Given the description of an element on the screen output the (x, y) to click on. 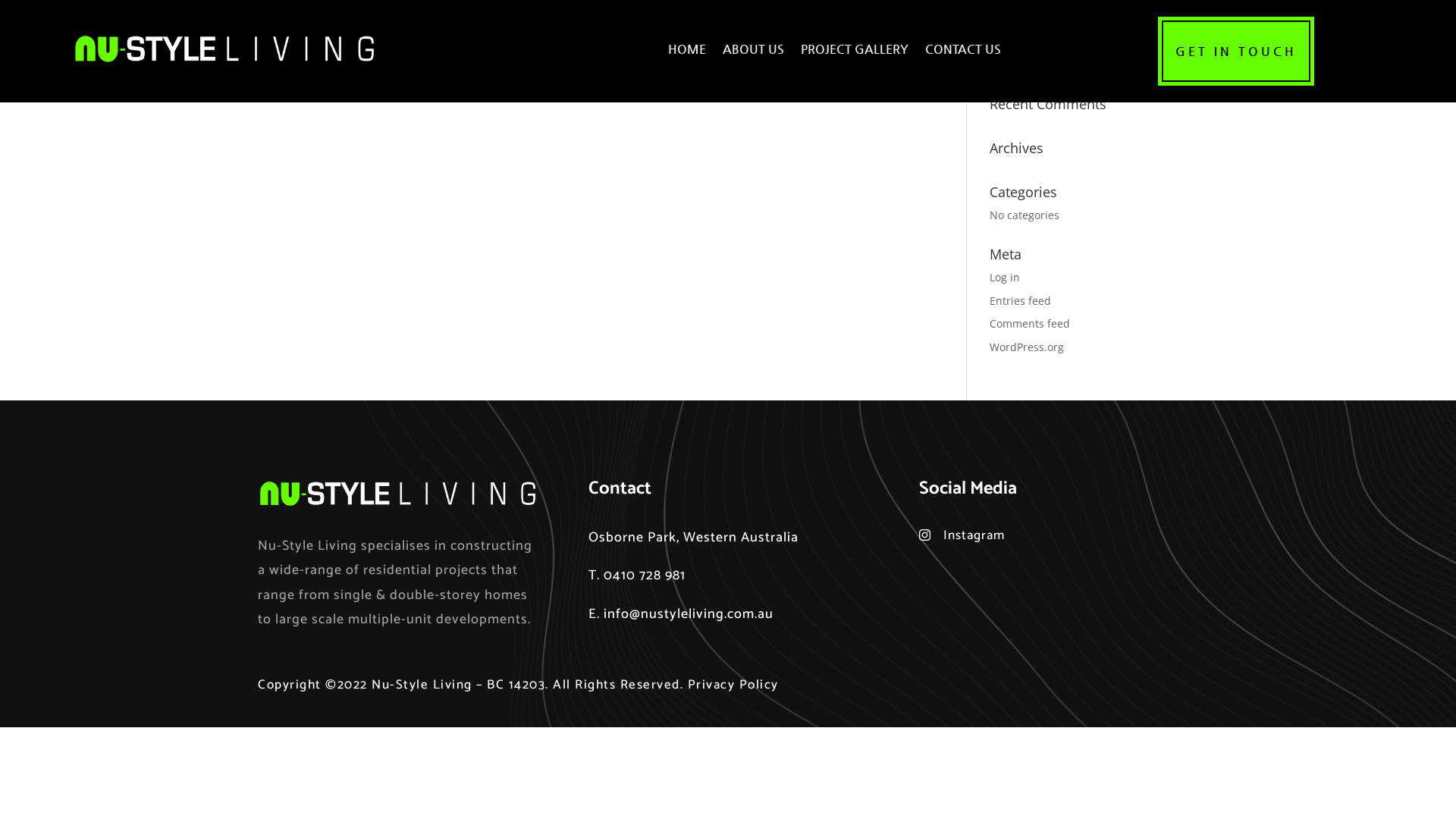
HOME Element type: text (687, 49)
CONTACT US Element type: text (963, 49)
Search Element type: text (1111, 58)
PROJECT GALLERY Element type: text (854, 49)
ABOUT US Element type: text (753, 49)
Comments feed Element type: text (1029, 323)
Entries feed Element type: text (1020, 300)
GET IN TOUCH Element type: text (1235, 50)
info@nustyleliving.com.au Element type: text (688, 613)
0410 728 981 Element type: text (644, 575)
Instagram Element type: text (973, 535)
WordPress.org Element type: text (1026, 346)
Privacy Policy Element type: text (732, 684)
Log in Element type: text (1004, 276)
Nu-Style Living Logo Element type: hover (396, 494)
